Given the description of an element on the screen output the (x, y) to click on. 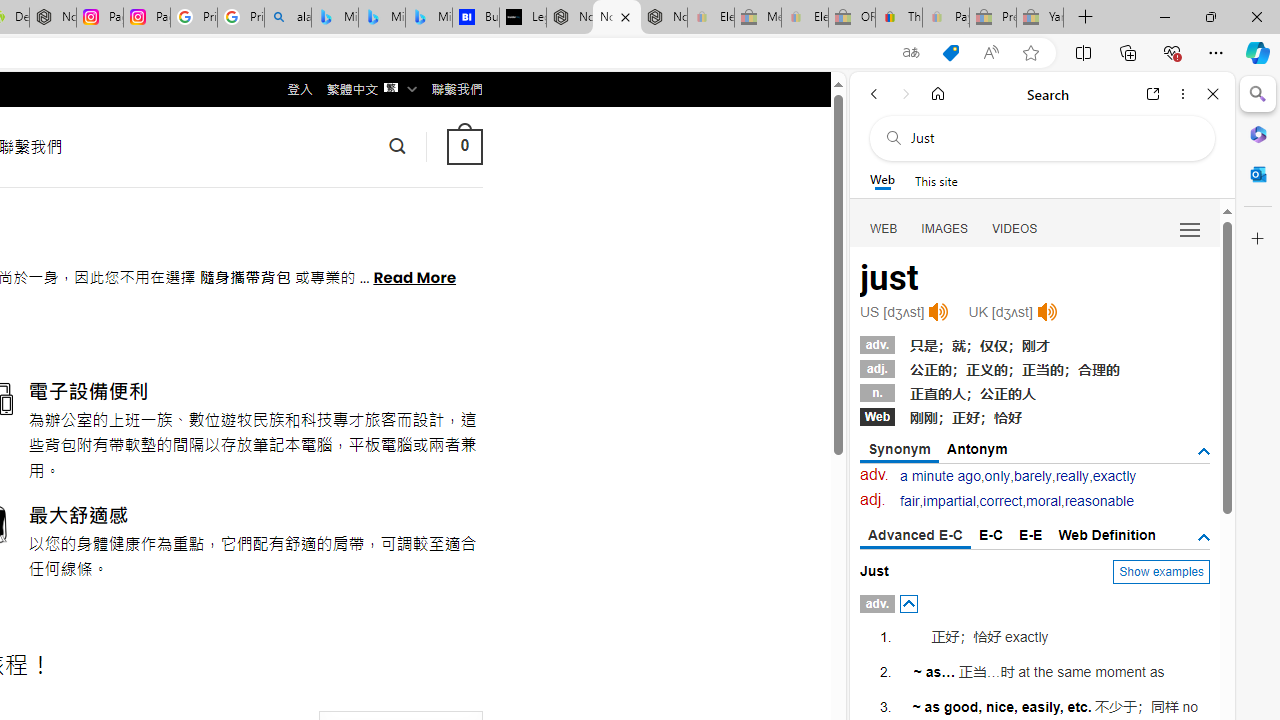
E-C (991, 534)
Payments Terms of Use | eBay.com - Sleeping (945, 17)
WEB (884, 228)
exactly (1113, 475)
Web Definition (1106, 534)
